Given the description of an element on the screen output the (x, y) to click on. 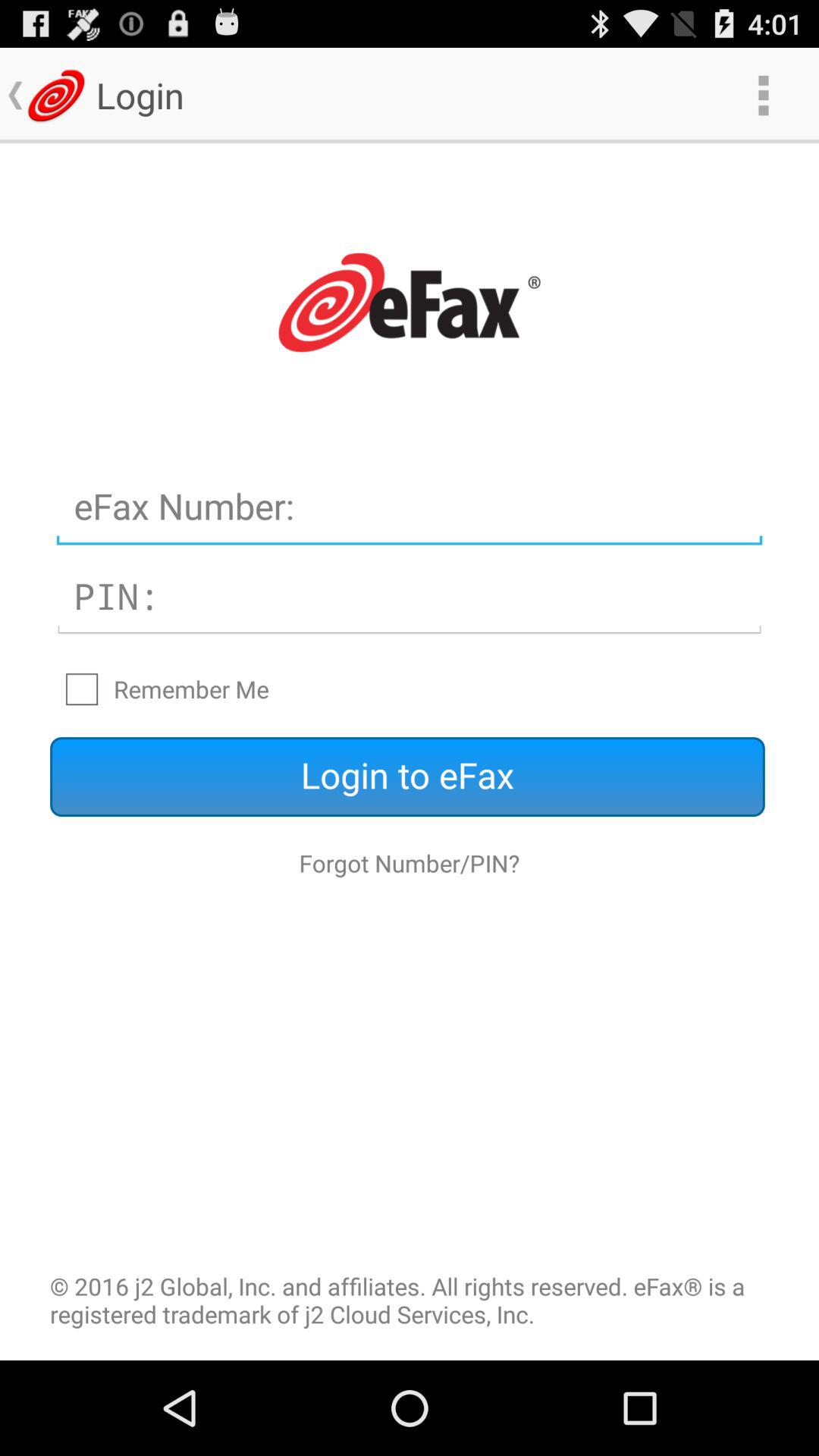
turn on forgot number/pin? icon (409, 862)
